Given the description of an element on the screen output the (x, y) to click on. 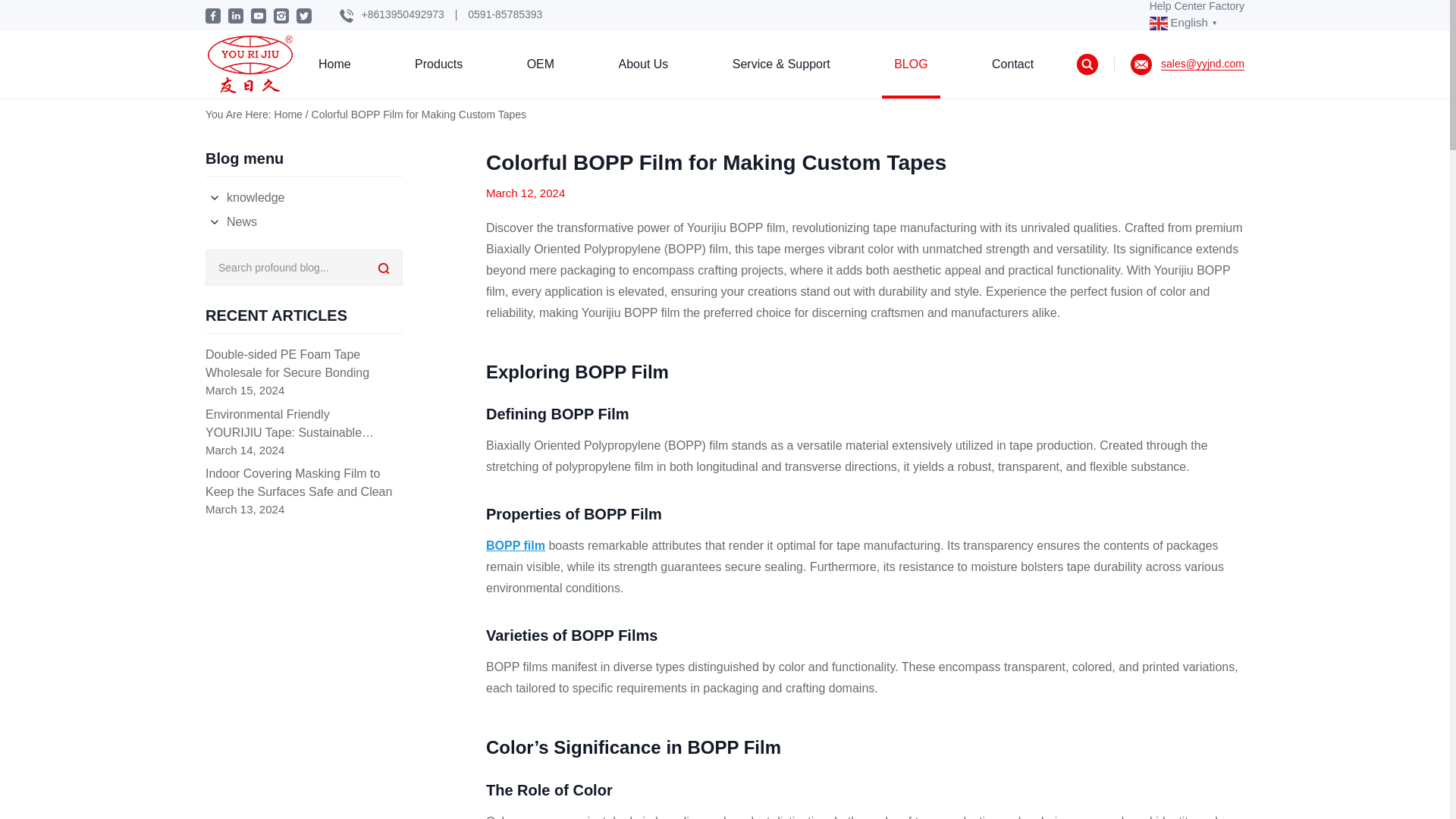
Products (438, 64)
Home (334, 64)
OEM (540, 64)
About Us (643, 64)
Factory (1226, 6)
Help Center (1178, 6)
0591-85785393 (504, 14)
